Given the description of an element on the screen output the (x, y) to click on. 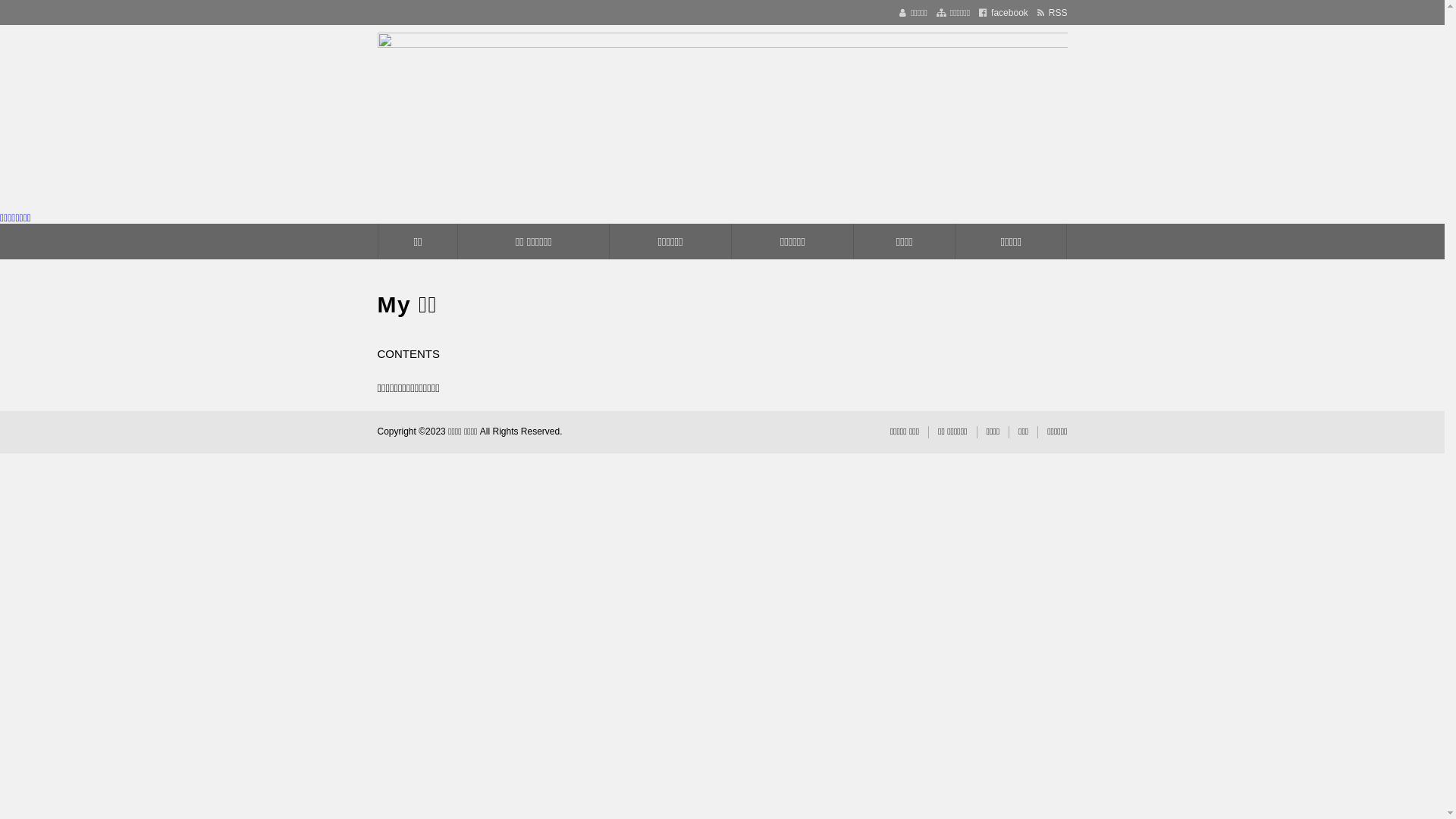
facebook Element type: text (1003, 12)
RSS Element type: text (1052, 12)
